Given the description of an element on the screen output the (x, y) to click on. 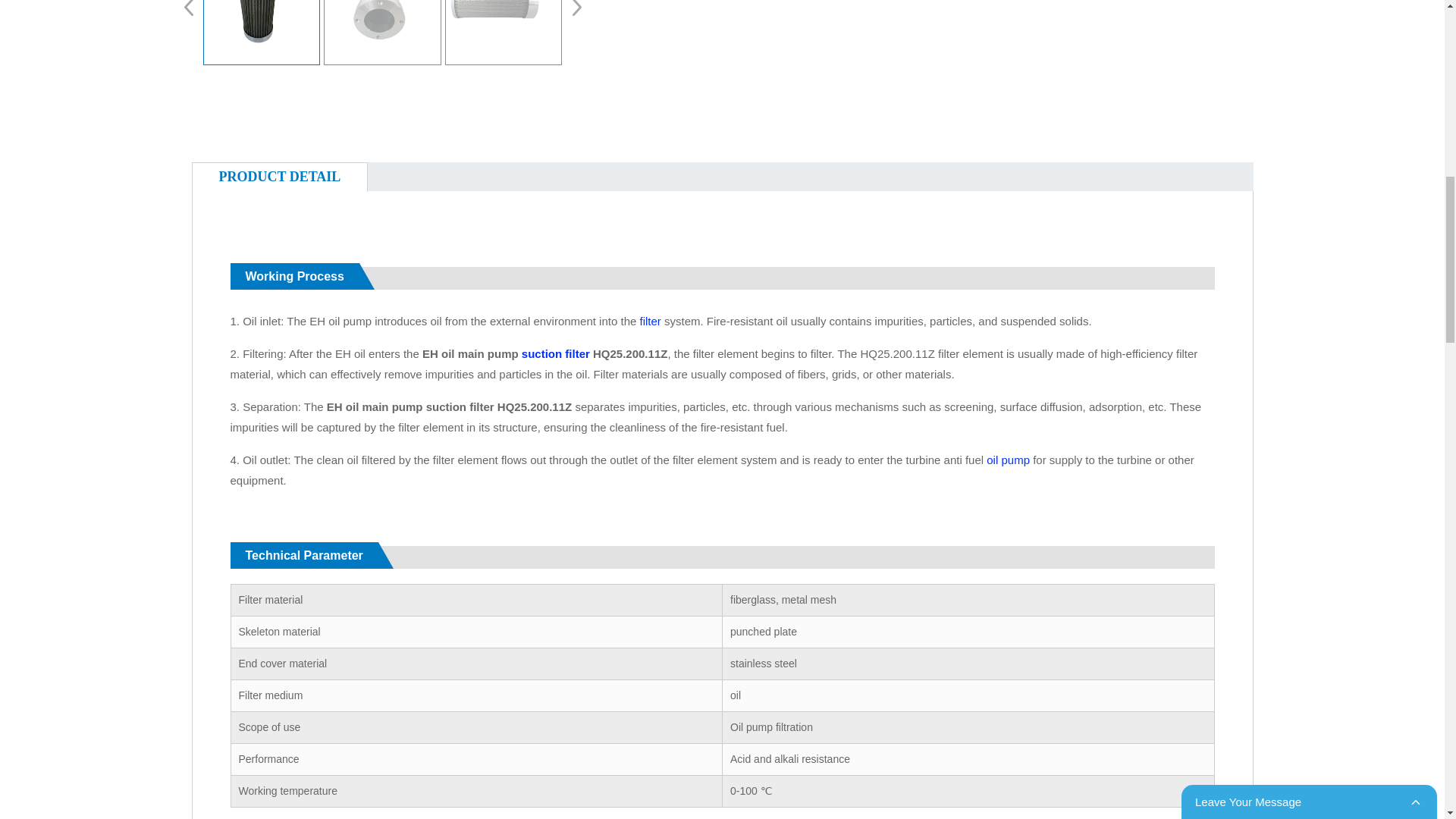
oil pump (1008, 459)
filter (650, 320)
suction-filter (555, 353)
